Given the description of an element on the screen output the (x, y) to click on. 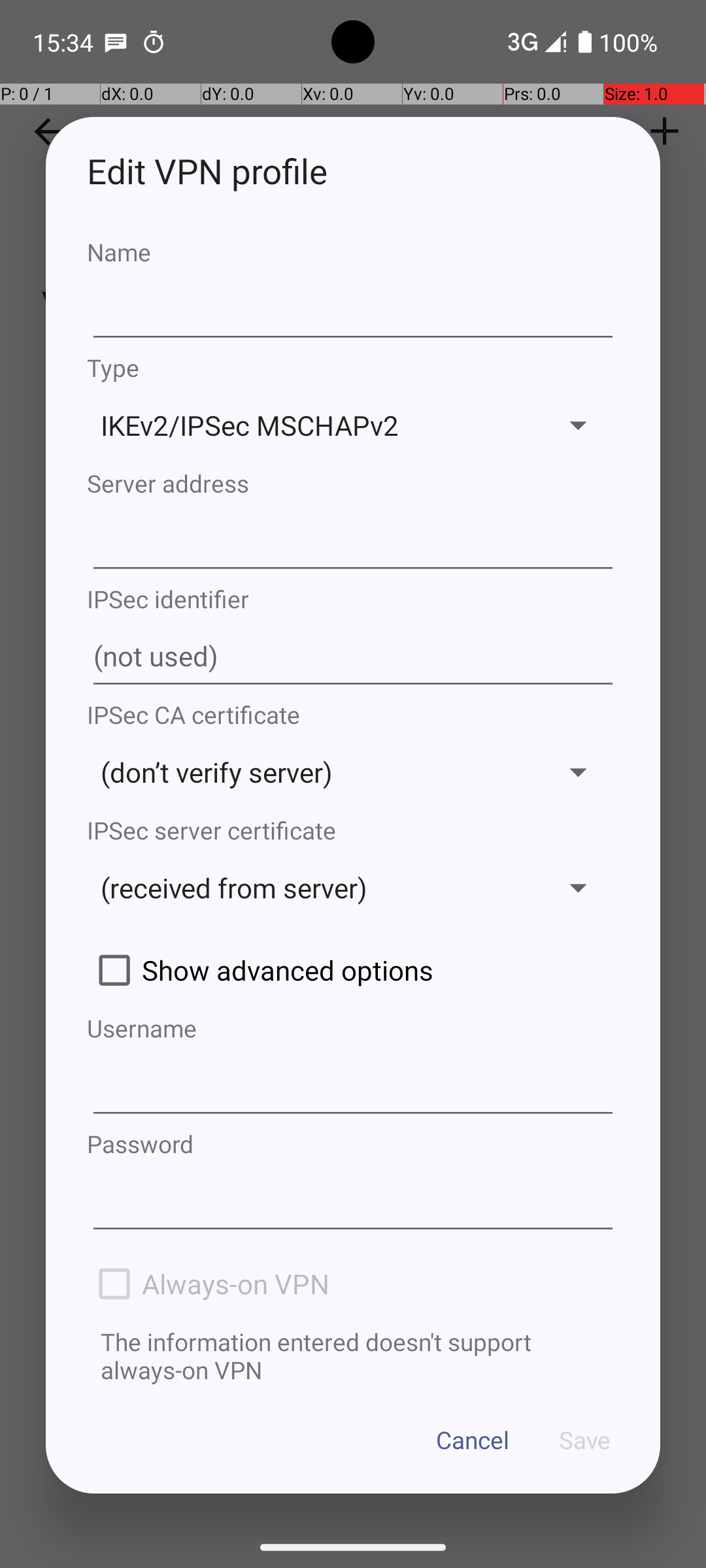
Edit VPN profile Element type: android.widget.TextView (352, 170)
Server address Element type: android.widget.TextView (352, 482)
IPSec identifier Element type: android.widget.TextView (352, 598)
(not used) Element type: android.widget.EditText (352, 656)
IPSec CA certificate Element type: android.widget.TextView (352, 714)
IPSec server certificate Element type: android.widget.TextView (352, 829)
Show advanced options Element type: android.widget.CheckBox (352, 970)
Username Element type: android.widget.TextView (352, 1027)
Password Element type: android.widget.TextView (352, 1143)
Always-on VPN Element type: android.widget.CheckBox (352, 1283)
The information entered doesn't support always-on VPN Element type: android.widget.TextView (352, 1355)
IKEv2/IPSec MSCHAPv2 Element type: android.widget.TextView (311, 424)
(don’t verify server) Element type: android.widget.TextView (311, 771)
(received from server) Element type: android.widget.TextView (311, 887)
